Given the description of an element on the screen output the (x, y) to click on. 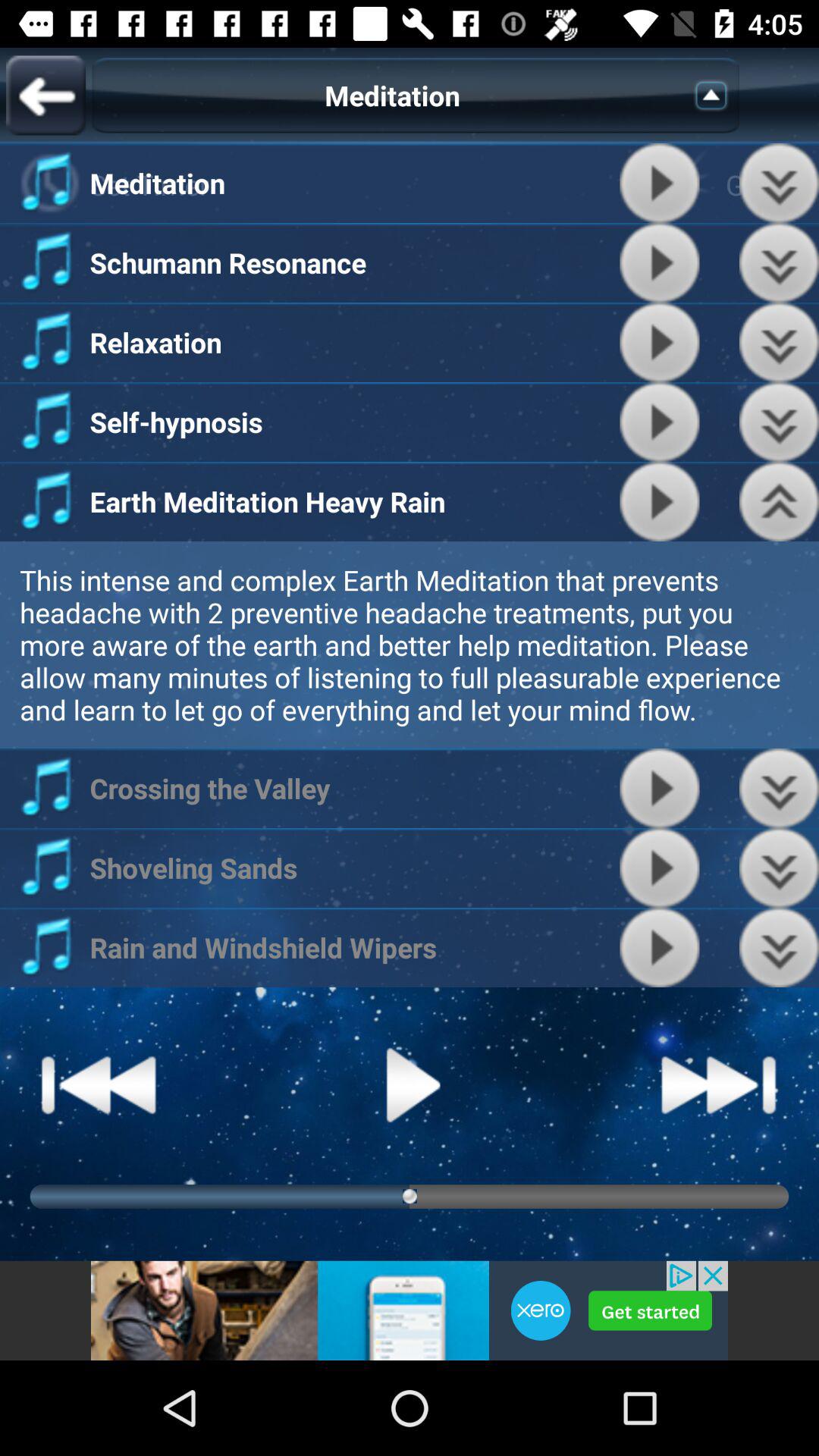
go to next (719, 1084)
